Given the description of an element on the screen output the (x, y) to click on. 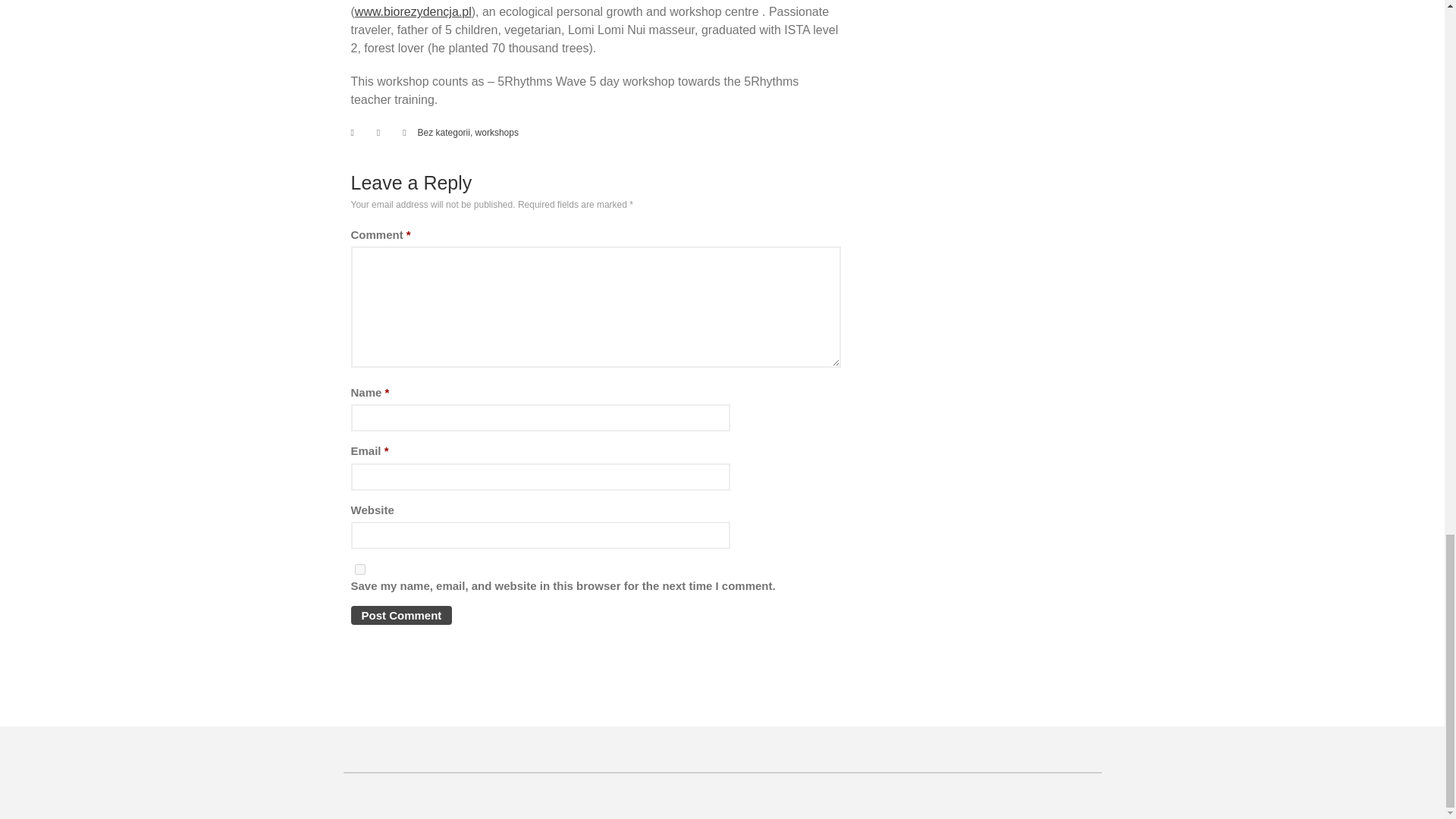
View all posts in workshops (497, 132)
View all posts in Bez kategorii (443, 132)
Bez kategorii (443, 132)
Post Comment (400, 615)
workshops (497, 132)
Post Comment (400, 615)
yes (360, 569)
www.biorezydencja.pl (413, 11)
